Given the description of an element on the screen output the (x, y) to click on. 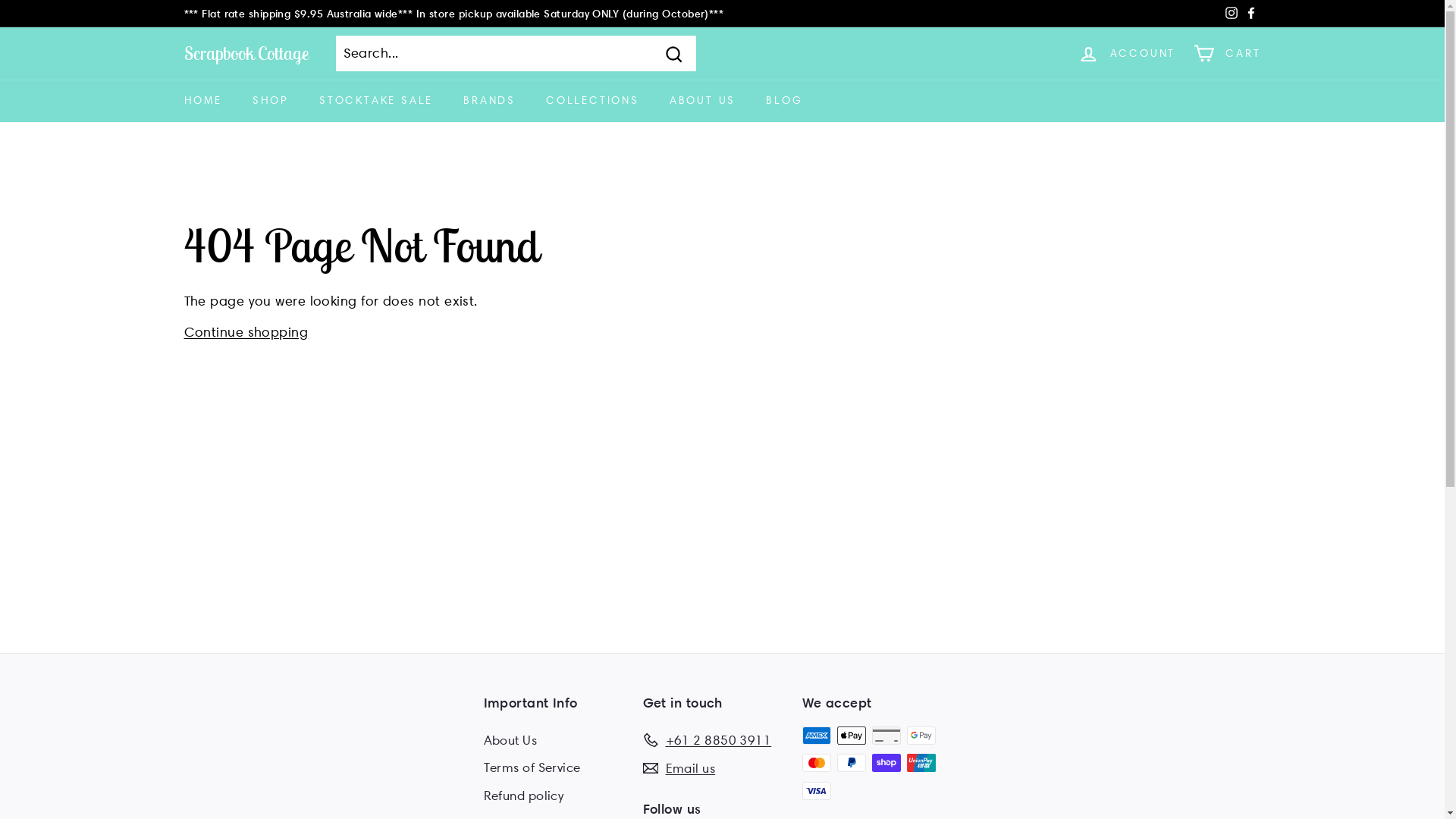
Terms of Service Element type: text (531, 767)
Facebook Element type: text (1250, 13)
ABOUT US Element type: text (702, 100)
STOCKTAKE SALE Element type: text (376, 100)
COLLECTIONS Element type: text (592, 100)
About Us Element type: text (510, 740)
Email us Element type: text (679, 768)
Instagram Element type: text (1230, 13)
Continue shopping Element type: text (245, 331)
HOME Element type: text (202, 100)
Refund policy Element type: text (523, 795)
+61 2 8850 3911 Element type: text (707, 740)
Skip to content Element type: text (0, 0)
BRANDS Element type: text (489, 100)
SHOP Element type: text (270, 100)
ACCOUNT Element type: text (1127, 53)
Scrapbook Cottage Element type: text (245, 52)
BLOG Element type: text (783, 100)
